Given the description of an element on the screen output the (x, y) to click on. 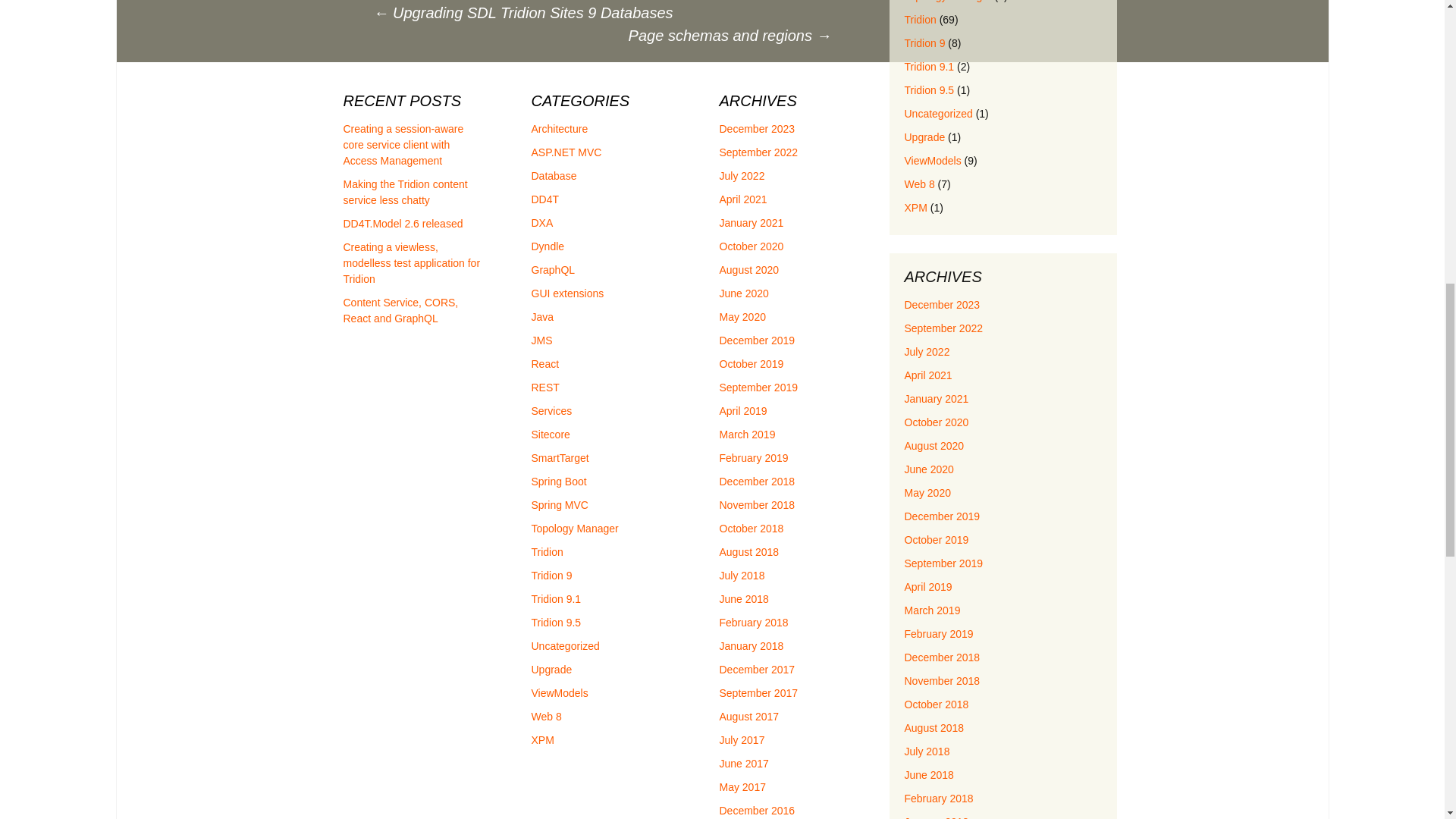
September 2022 (943, 328)
December 2023 (941, 304)
Uncategorized (938, 113)
Tridion (920, 19)
Topology Manager (947, 1)
July 2022 (926, 351)
Tridion 9.1 (928, 66)
Upgrade (924, 137)
ViewModels (932, 160)
Web 8 (919, 184)
Tridion 9 (924, 42)
Tridion 9.5 (928, 90)
XPM (915, 207)
